Given the description of an element on the screen output the (x, y) to click on. 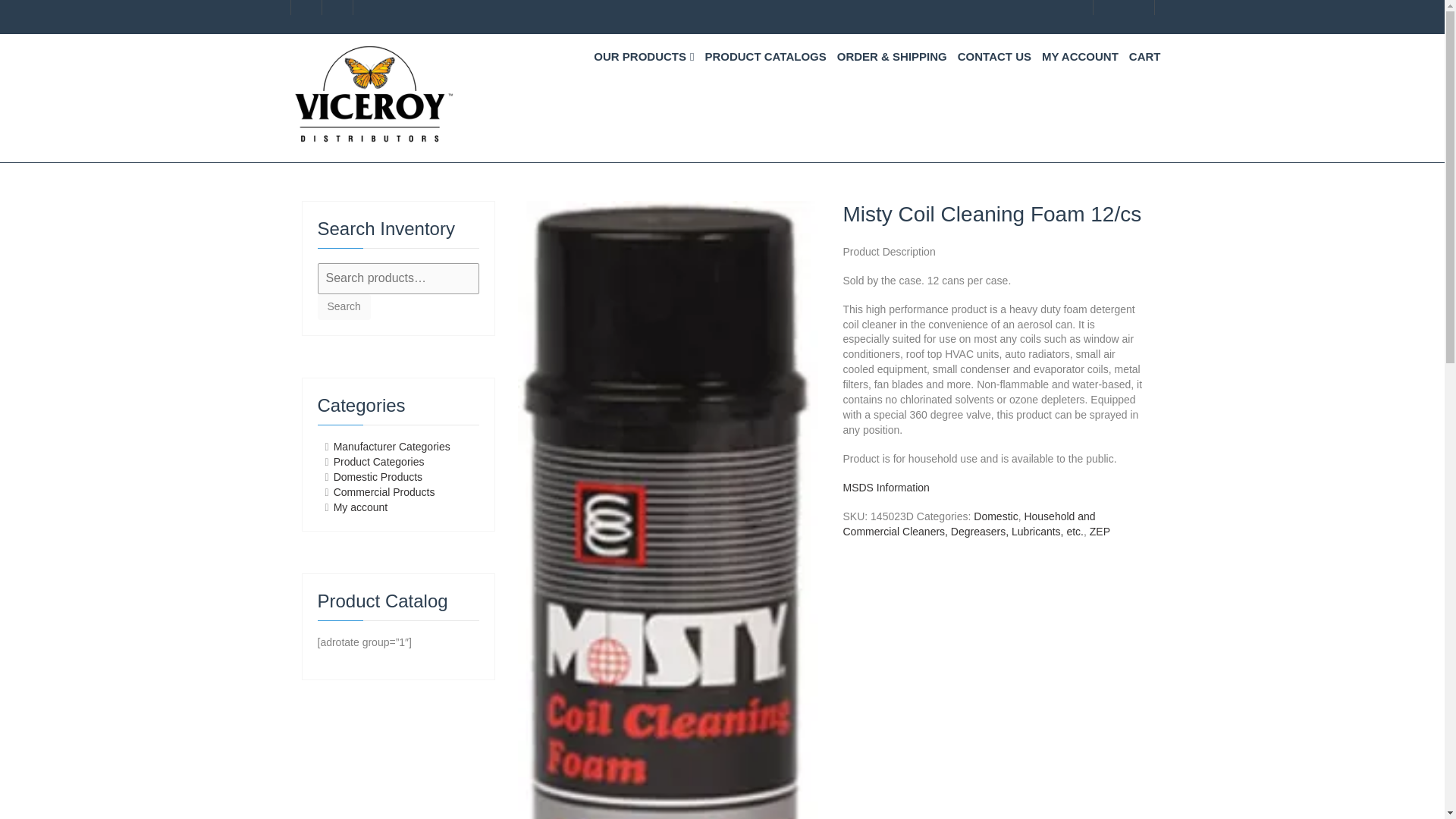
MSDS Information (886, 487)
Manufacturer Categories (391, 446)
CART (1145, 56)
CONTACT US (994, 56)
Domestic (995, 516)
Search (343, 307)
Commercial Products (384, 491)
Product Categories (379, 461)
OUR PRODUCTS (643, 56)
My account (360, 507)
PRODUCT CATALOGS (764, 56)
Domestic Products (377, 476)
ZEP (1099, 531)
MY ACCOUNT (1080, 56)
